Given the description of an element on the screen output the (x, y) to click on. 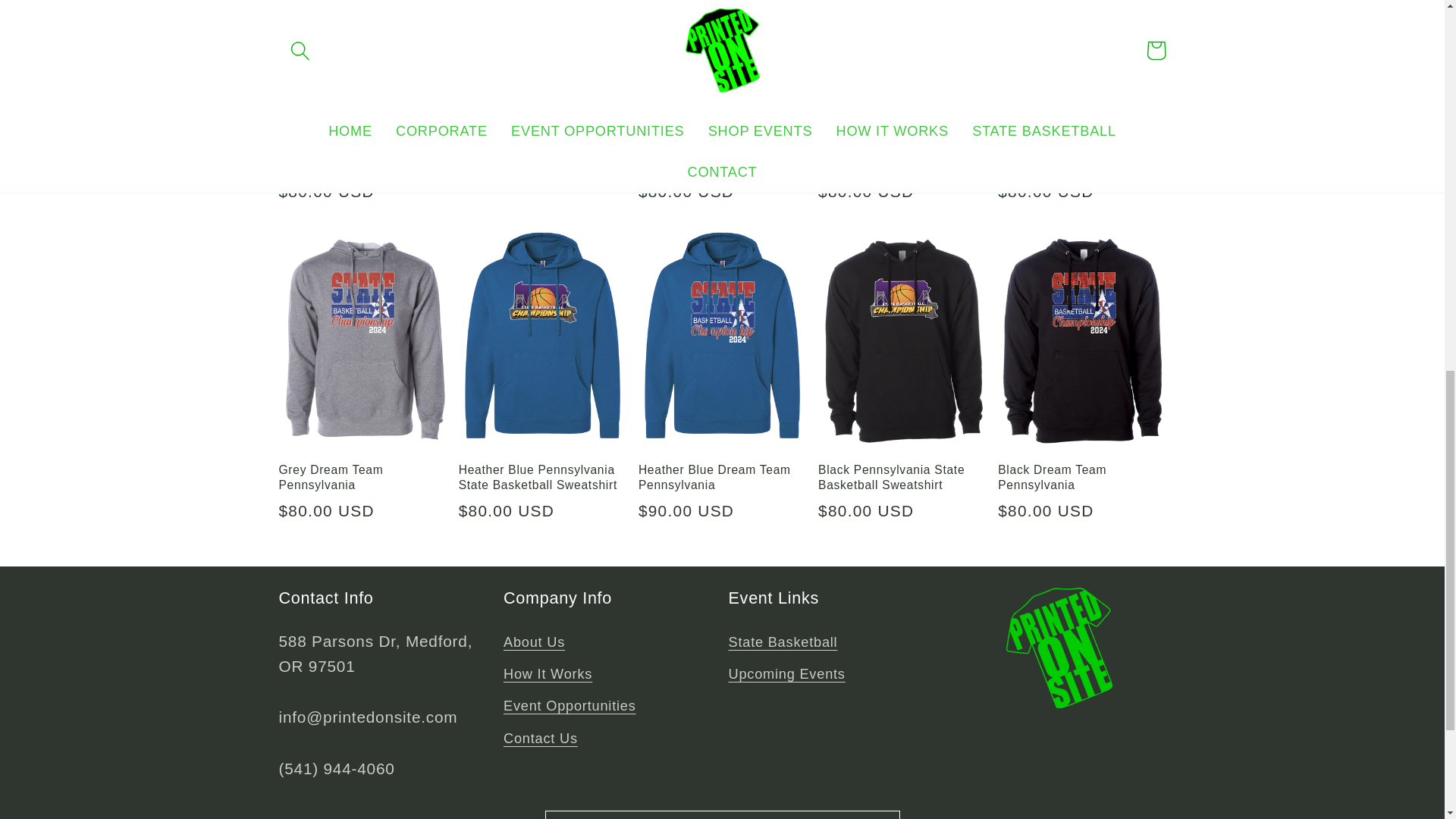
Red Pennsylvania State Basketball Sweatshirt (722, 159)
Red Dream Team Pennsylvania (901, 159)
G.O.A.T. Pennsylvania Screen Printed (362, 159)
Silver Pennsylvania (542, 151)
